Given the description of an element on the screen output the (x, y) to click on. 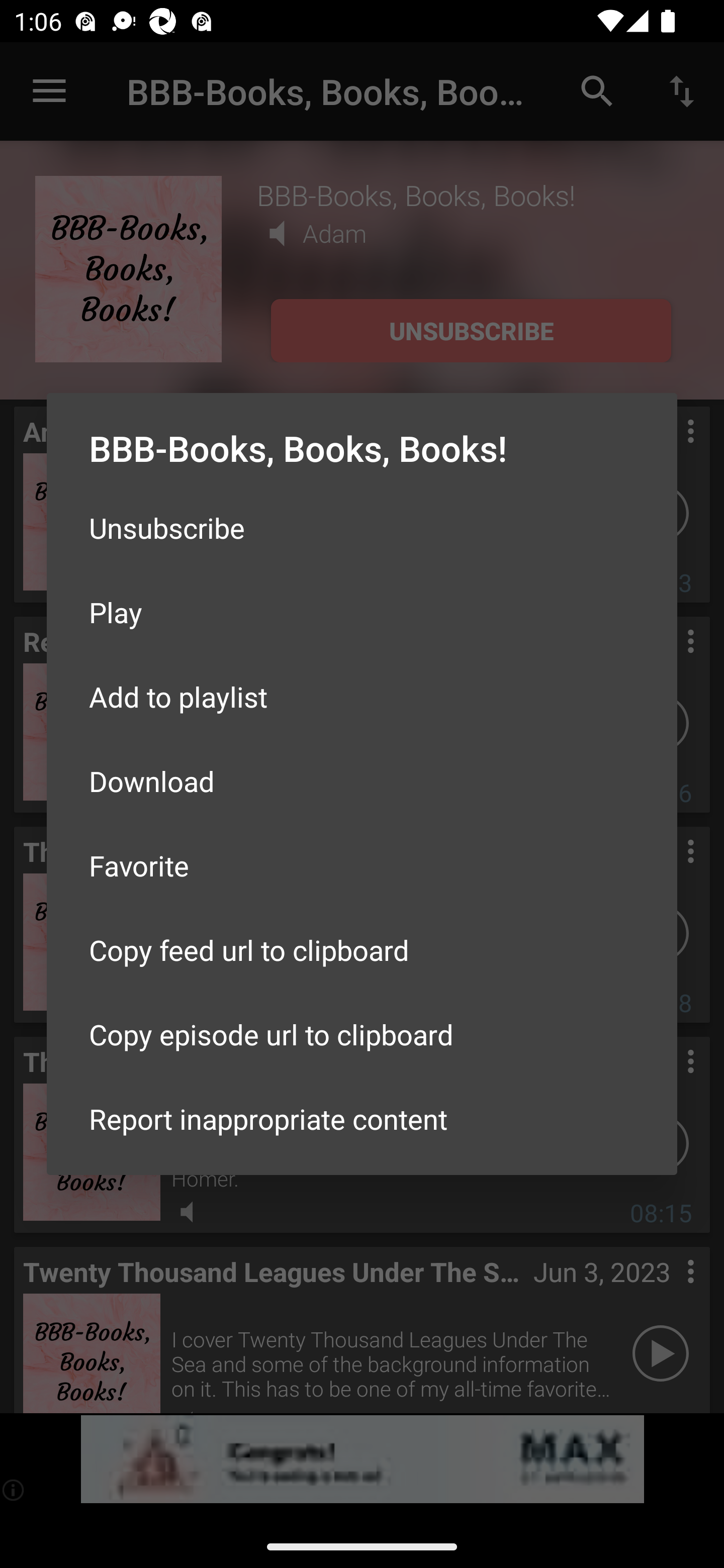
Unsubscribe (361, 527)
Play (361, 611)
Add to playlist (361, 695)
Download (361, 780)
Favorite (361, 865)
Copy feed url to clipboard (361, 949)
Copy episode url to clipboard (361, 1034)
Report inappropriate content (361, 1118)
